Given the description of an element on the screen output the (x, y) to click on. 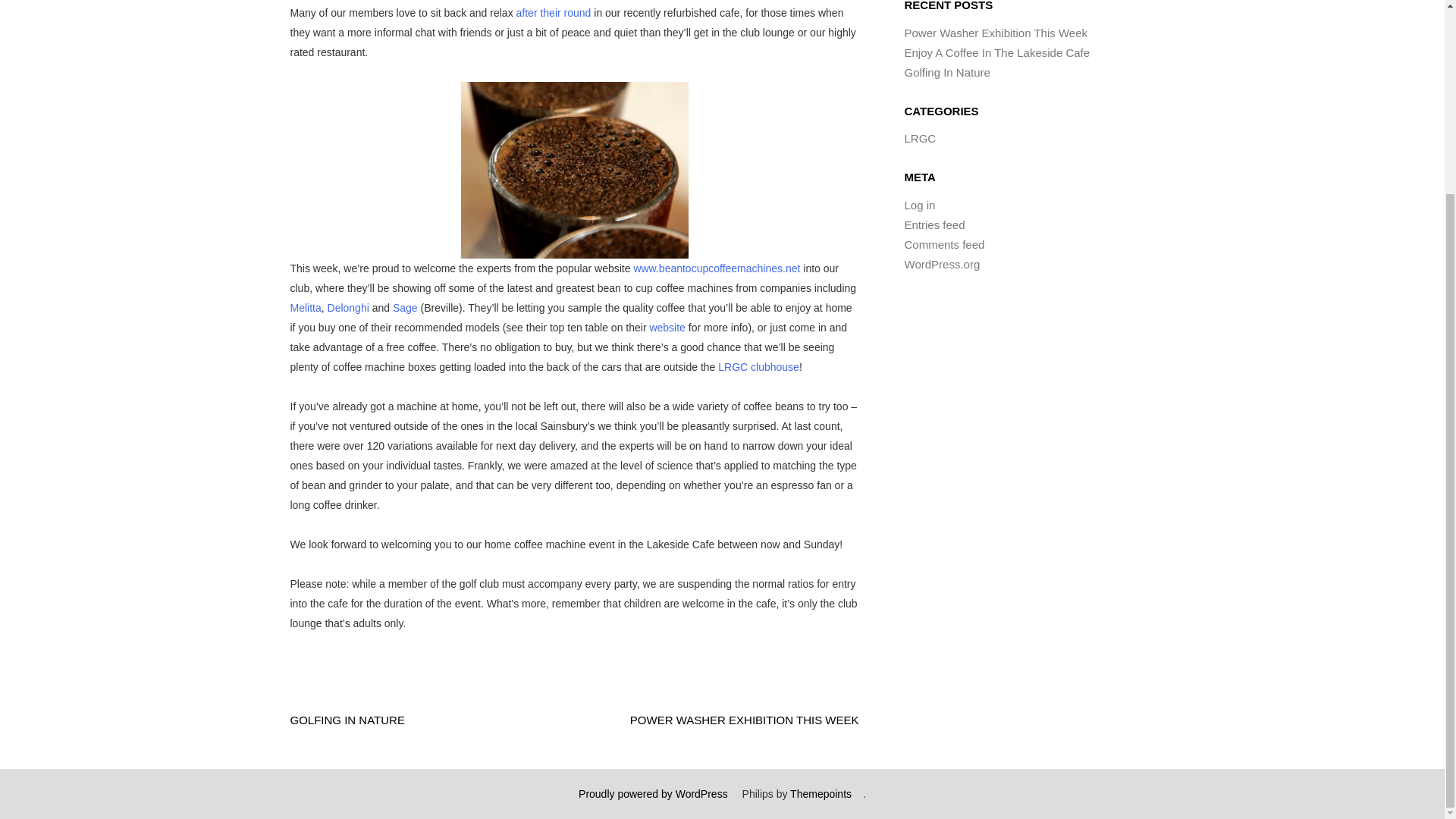
Delonghi (348, 307)
Proudly powered by WordPress (653, 793)
Power Washer Exhibition This Week (995, 32)
Golfing In Nature (947, 72)
Sage (405, 307)
POWER WASHER EXHIBITION THIS WEEK (744, 719)
LRGC (920, 137)
after their round (553, 12)
Themepoints (820, 793)
WordPress.org (941, 264)
Log in (919, 205)
Entries feed (933, 224)
www.beantocupcoffeemachines.net (716, 268)
website (666, 327)
Melitta (304, 307)
